Given the description of an element on the screen output the (x, y) to click on. 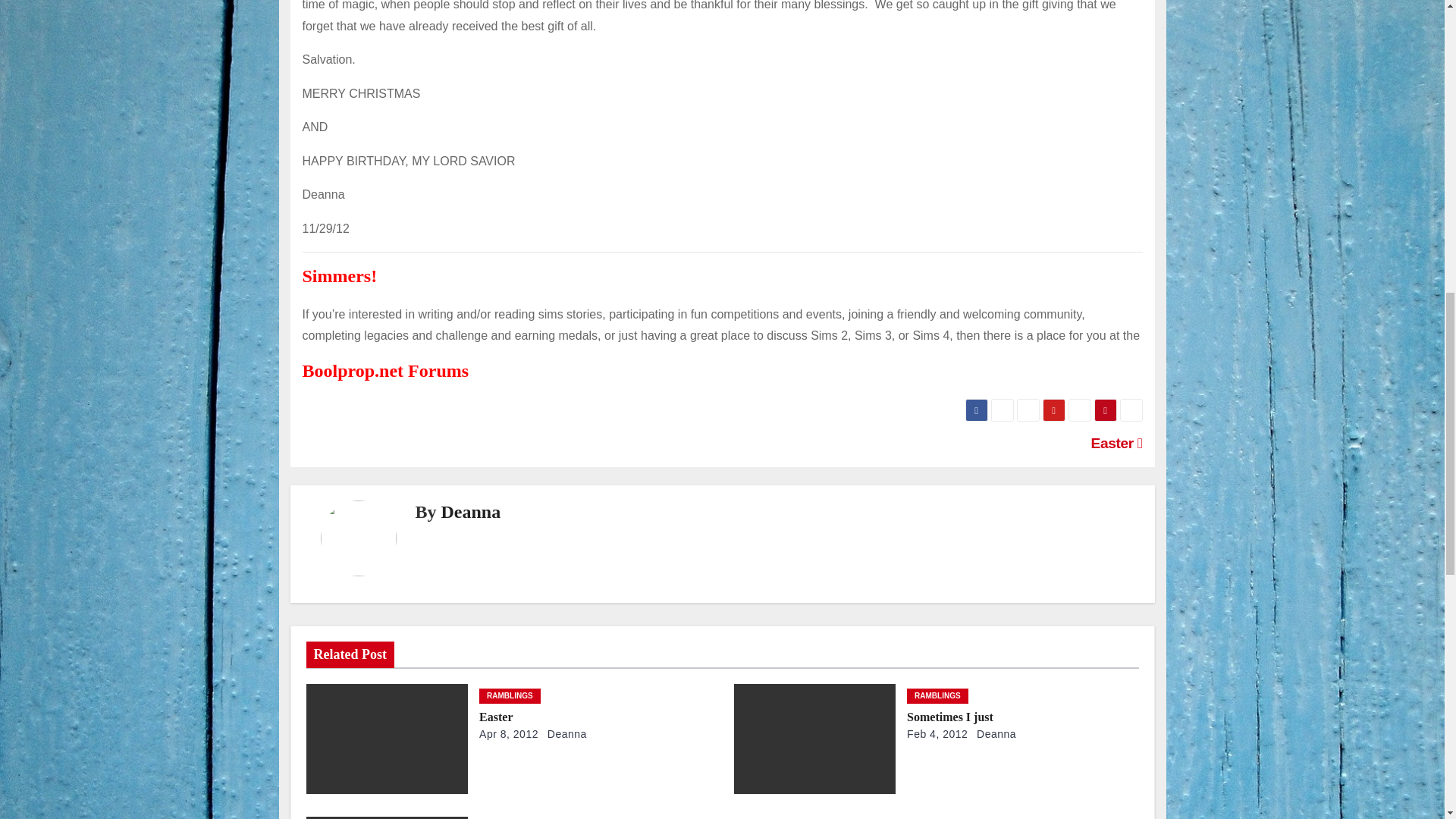
RAMBLINGS (509, 695)
Deanna (563, 734)
Deanna (470, 511)
Permalink to: Easter (495, 716)
Apr 8, 2012 (508, 734)
Easter (495, 716)
